Given the description of an element on the screen output the (x, y) to click on. 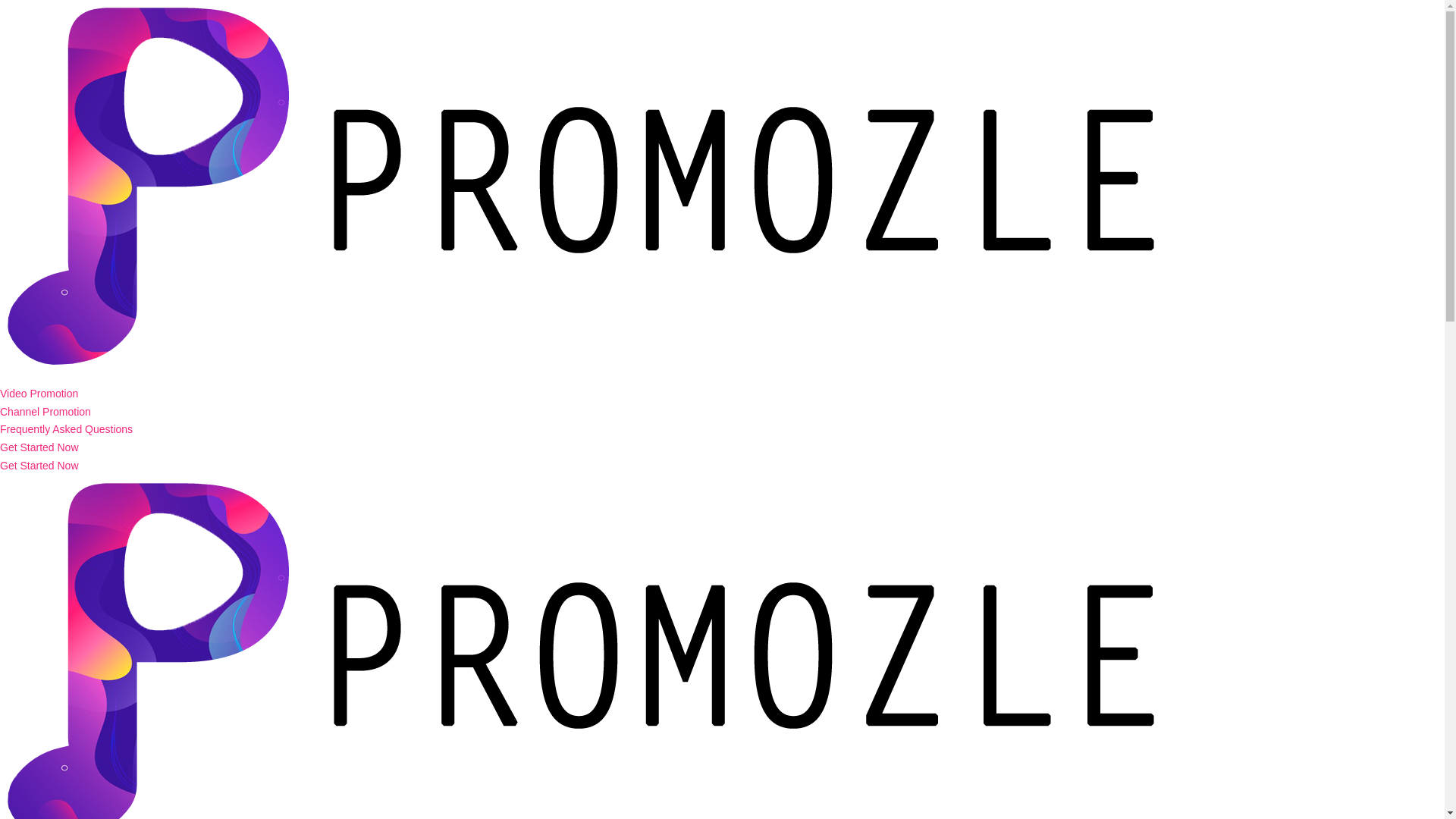
Channel Promotion (45, 411)
Get Started Now (39, 465)
Frequently Asked Questions (66, 428)
Video Promotion (39, 393)
